Given the description of an element on the screen output the (x, y) to click on. 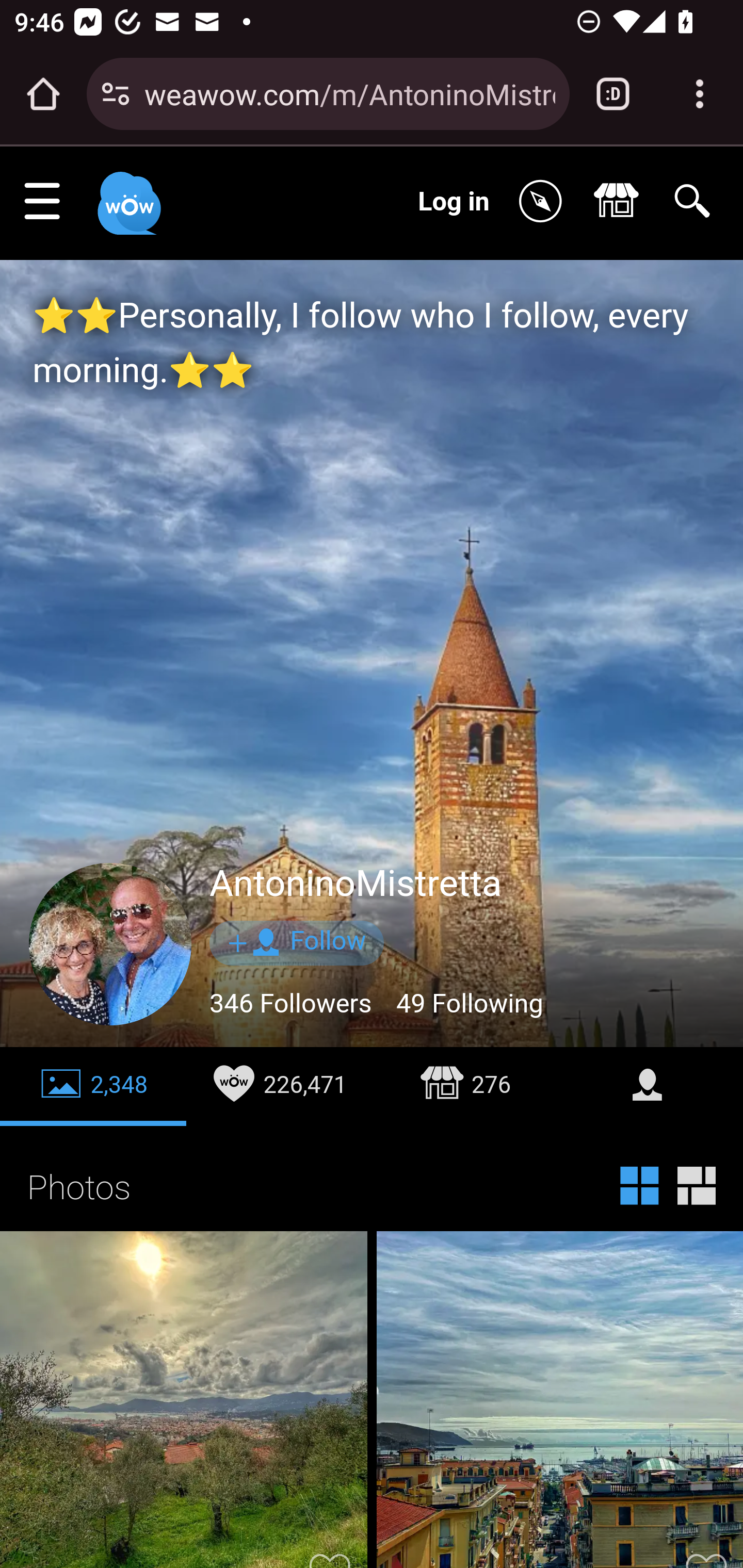
Open the home page (43, 93)
Connection is secure (115, 93)
Switch or close tabs (612, 93)
Customize and control Google Chrome (699, 93)
weawow.com/m/AntoninoMistretta (349, 92)
Weawow (127, 194)
 (545, 201)
 (621, 201)
Log in (453, 201)
znrcnfdYPS196644 (110, 944)
AntoninoMistretta (355, 883)
346 Followers 346  Followers (291, 1004)
49 Following 49  Following (469, 1004)
 2,348  2,348 (93, 1086)
 226,471  226,471 (278, 1086)
 276  276 (465, 1086)
 (649, 1086)
